Given the description of an element on the screen output the (x, y) to click on. 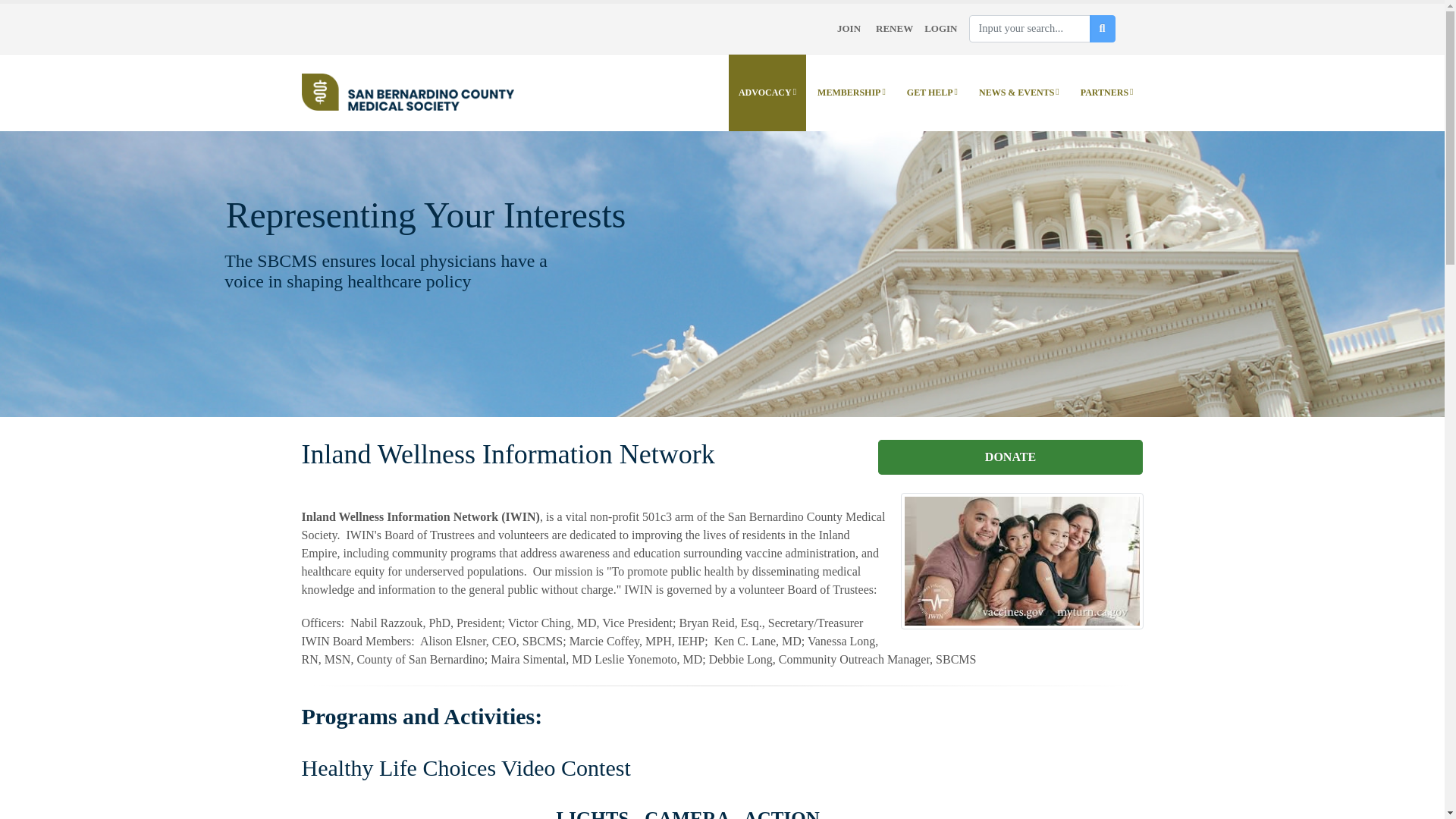
GET HELP (932, 92)
MEMBERSHIP (851, 92)
RENEW (894, 28)
search input (1029, 28)
Renew Membership (894, 28)
San Bernardino County Medical Society (407, 90)
ADVOCACY (767, 92)
PARTNERS (1106, 92)
Healthy Food (1021, 561)
LOGIN (940, 28)
Skip to main content (50, 8)
